Given the description of an element on the screen output the (x, y) to click on. 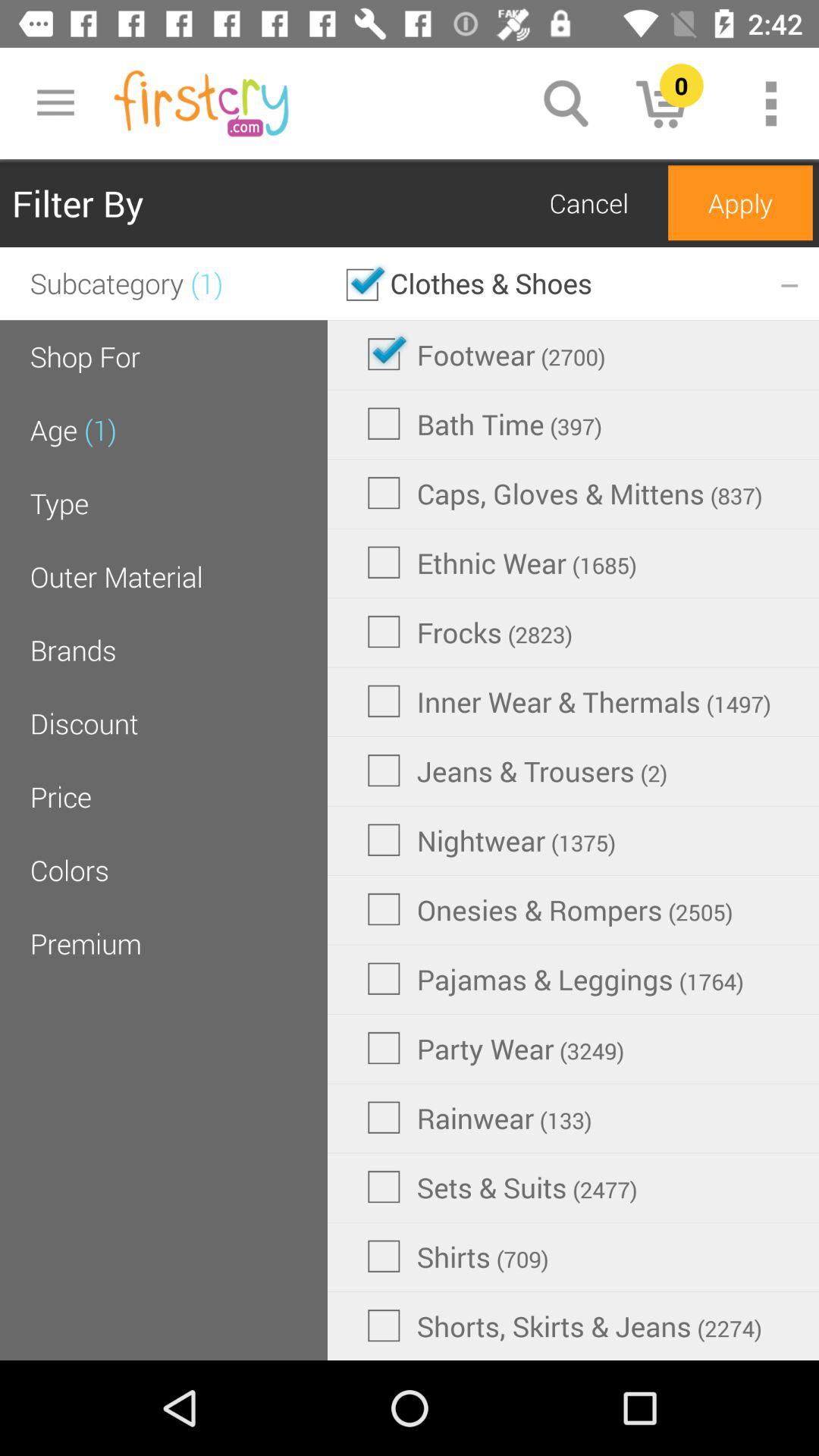
tap the icon above the discount (73, 649)
